Given the description of an element on the screen output the (x, y) to click on. 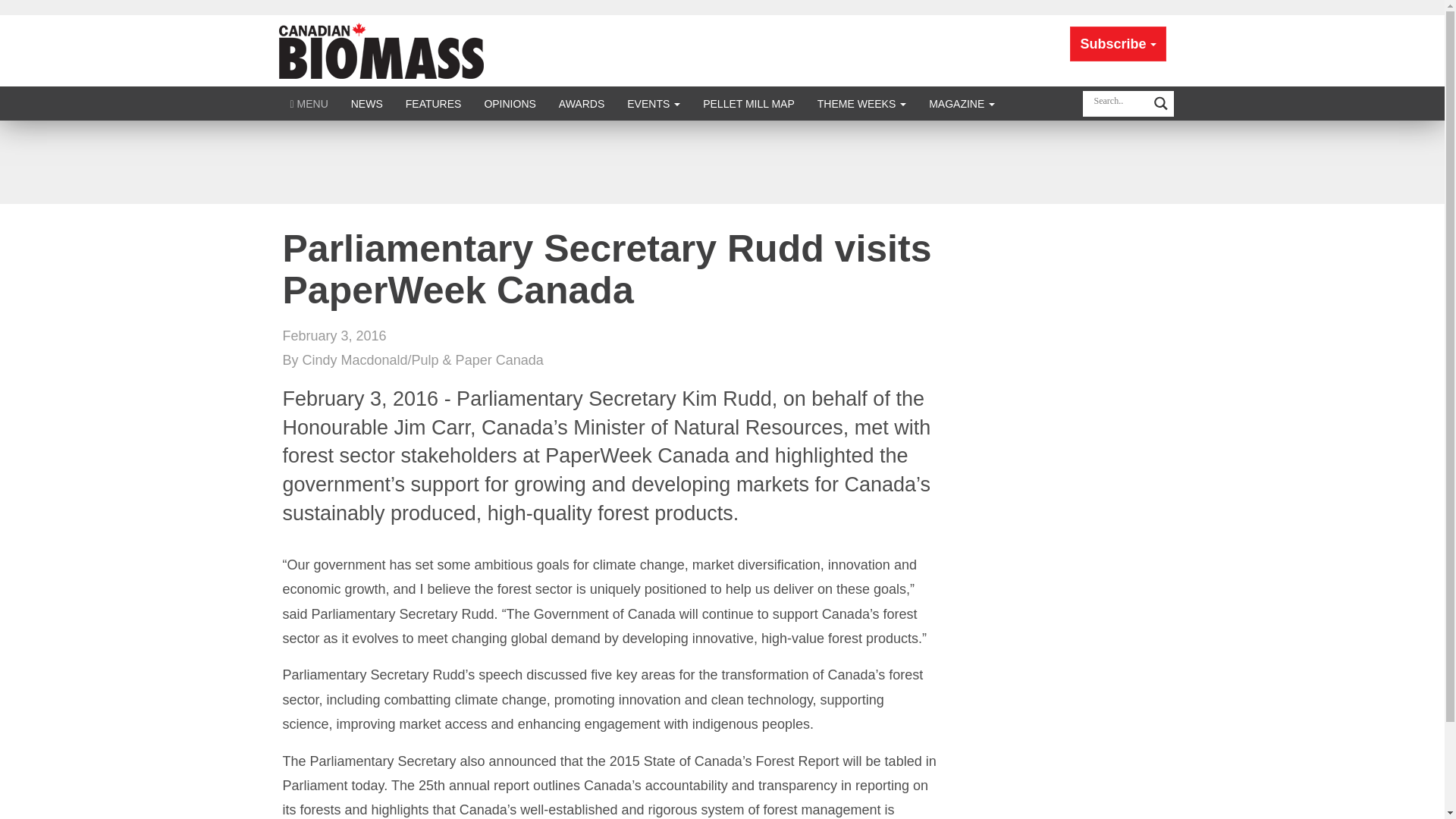
PELLET MILL MAP (748, 103)
THEME WEEKS (861, 103)
FEATURES (433, 103)
Canadian Biomass Magazine (381, 49)
EVENTS (653, 103)
OPINIONS (509, 103)
Subscribe (1118, 43)
MAGAZINE (961, 103)
MENU (309, 103)
AWARDS (581, 103)
